Given the description of an element on the screen output the (x, y) to click on. 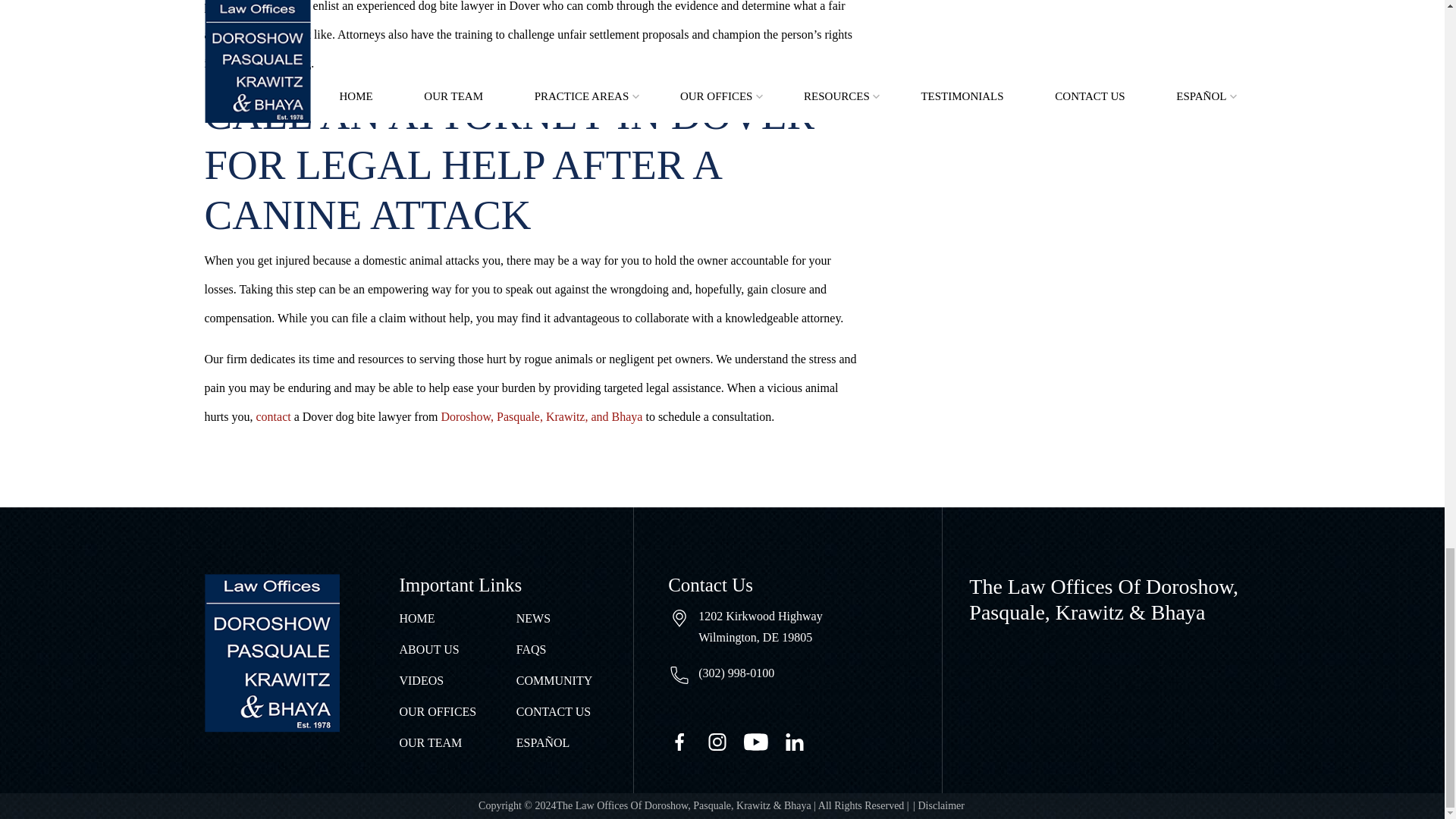
Youtube Link (763, 739)
Instagram (725, 739)
Linkedin Link (802, 739)
Facebook Link (687, 739)
Go To Homepage (272, 652)
